Given the description of an element on the screen output the (x, y) to click on. 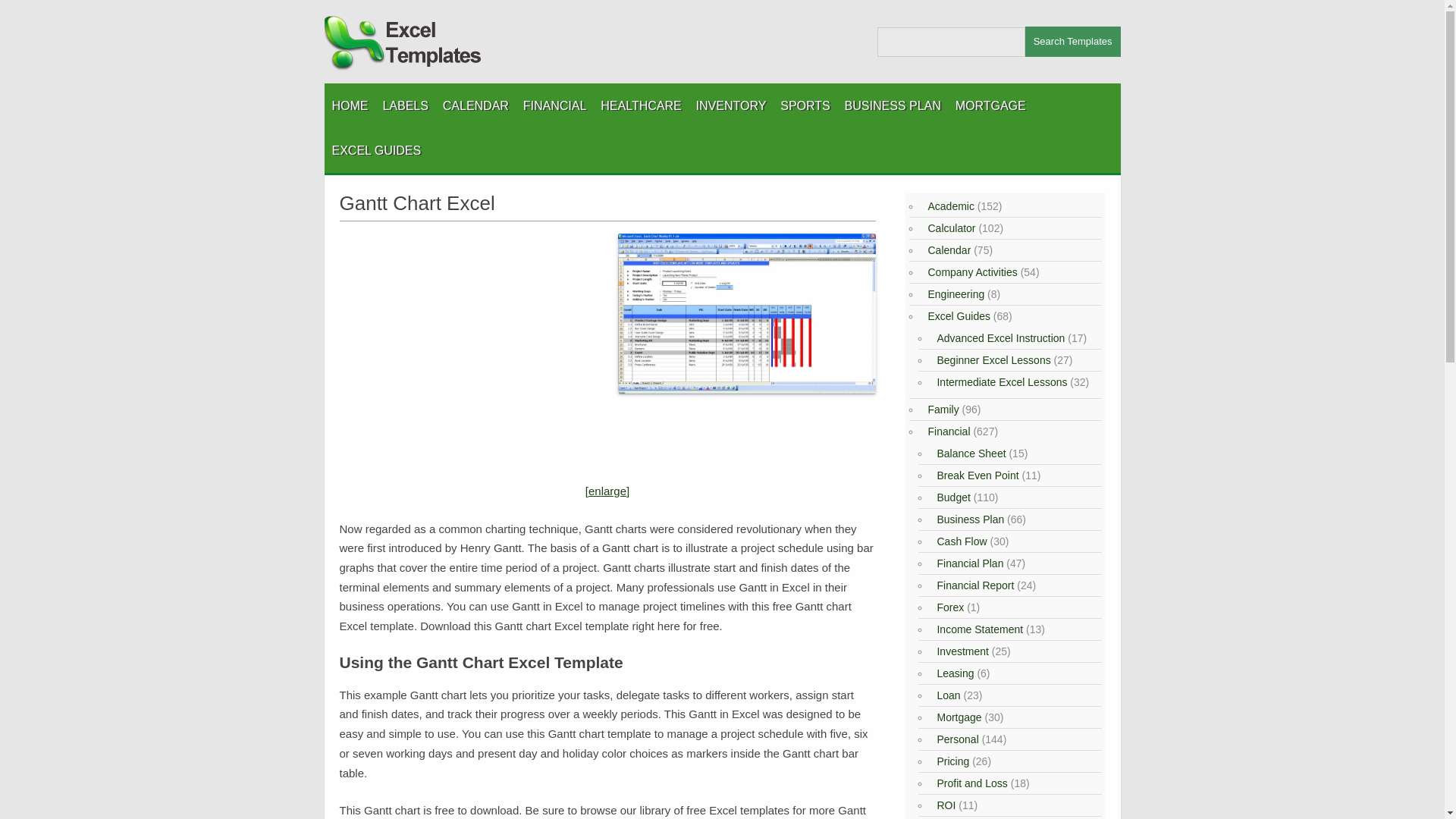
Academic (948, 205)
Break Even Point (975, 475)
Engineering (953, 294)
FINANCIAL (554, 105)
Search Templates (1073, 41)
Beginner Excel Lessons (991, 359)
MORTGAGE (990, 105)
Budget (951, 497)
Calculator (949, 227)
SPORTS (804, 105)
